Given the description of an element on the screen output the (x, y) to click on. 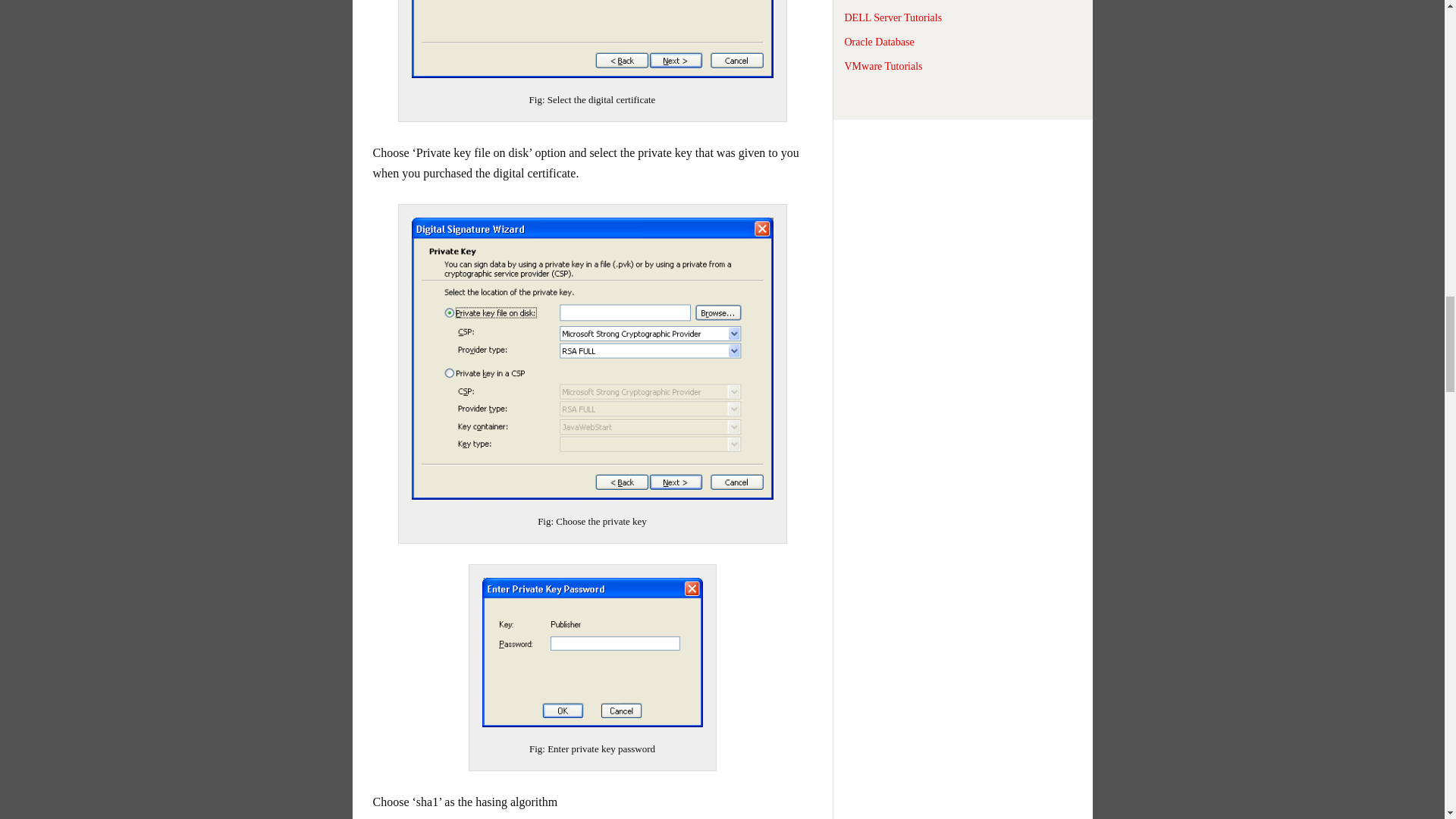
Digital Signature for MS-Windows (592, 652)
Digital Signature for Windows Vista (591, 358)
Digital Signature for Windows XP (591, 38)
